Given the description of an element on the screen output the (x, y) to click on. 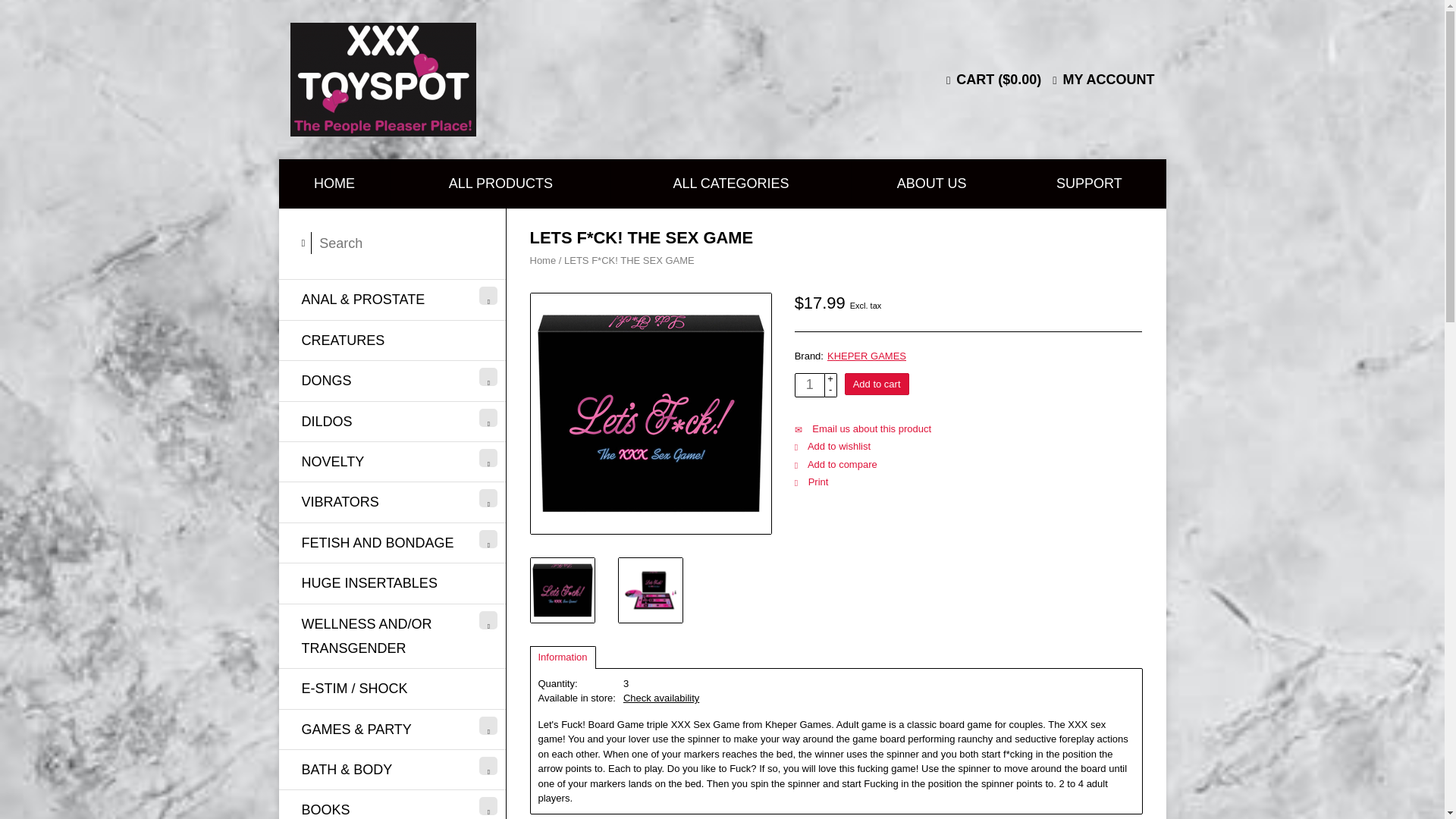
ALL PRODUCTS (500, 183)
ABOUT US (931, 183)
1 (809, 385)
CREATURES (392, 340)
ALL CATEGORIES (730, 183)
MY ACCOUNT (1103, 79)
WWW.XXXTOYSPOT.COM (493, 79)
SUPPORT (1088, 183)
HOME (334, 183)
DONGS (392, 380)
